Given the description of an element on the screen output the (x, y) to click on. 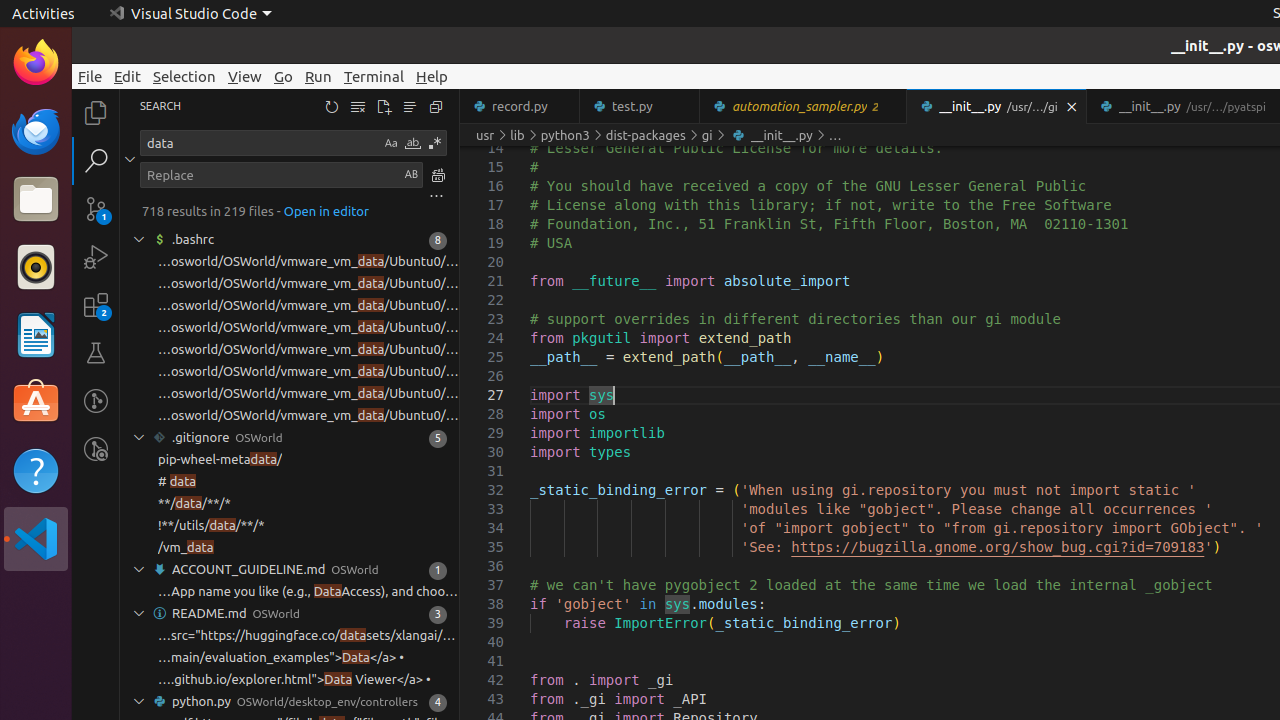
'alias vmbash='function _vmbash() { vmrun -T ws -gu user -gp password runScriptInGuest /home/PJLAB/luyi1/osworld/OSWorld/vmware_vm_data/Ubuntu0/Ubuntu0.vmx "/bin/bash" "$1 > /home/user/vm.log 2>&1" && vmrun -gu user -gp password copyFileFromGuestToHost /home/PJLAB/luyi1/osworld/OSWorld/vmware_vm_data/Ubuntu0/Ubuntu0.vmx /home/user/vm.log vm.log; }; _vmbash' vmrun -T ws -gu user -gp password runScriptInGuest /home/PJLAB/luyi1/osworld/OSWorld/vmware_' at column 297 found data Element type: tree-item (289, 327)
Extensions (Ctrl+Shift+X) - 2 require update Element type: page-tab (96, 305)
Source Control (Ctrl+Shift+G G) - 1 pending changes Element type: page-tab (96, 208)
Refresh Element type: push-button (332, 106)
'alias vmbash='function _vmbash() { vmrun -T ws -gu user -gp password runScriptInGuest /home/PJLAB/luyi1/osworld/OSWorld/vmware_vm_data/Ubuntu0/Ubuntu0.vmx "/bin/bash" "$1 > /home/user/vm.log 2>&1" && vmrun -gu user -gp password copyFileFromGuestToHost /home/PJLAB/luyi1/osworld/OSWorld' at column 131 found data Element type: tree-item (289, 305)
